Given the description of an element on the screen output the (x, y) to click on. 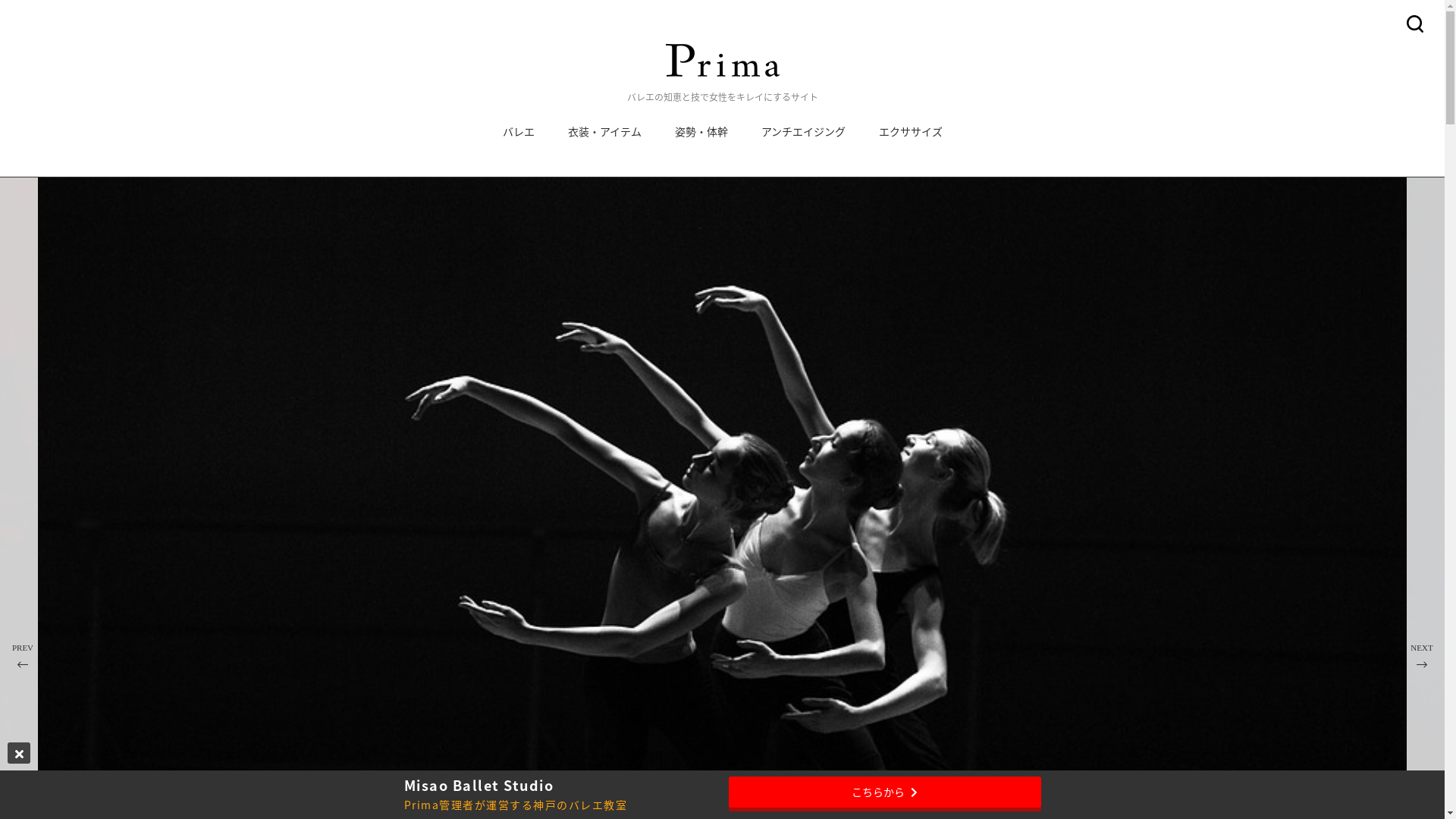
PREV Element type: text (22, 656)
NEXT Element type: text (1421, 656)
